Given the description of an element on the screen output the (x, y) to click on. 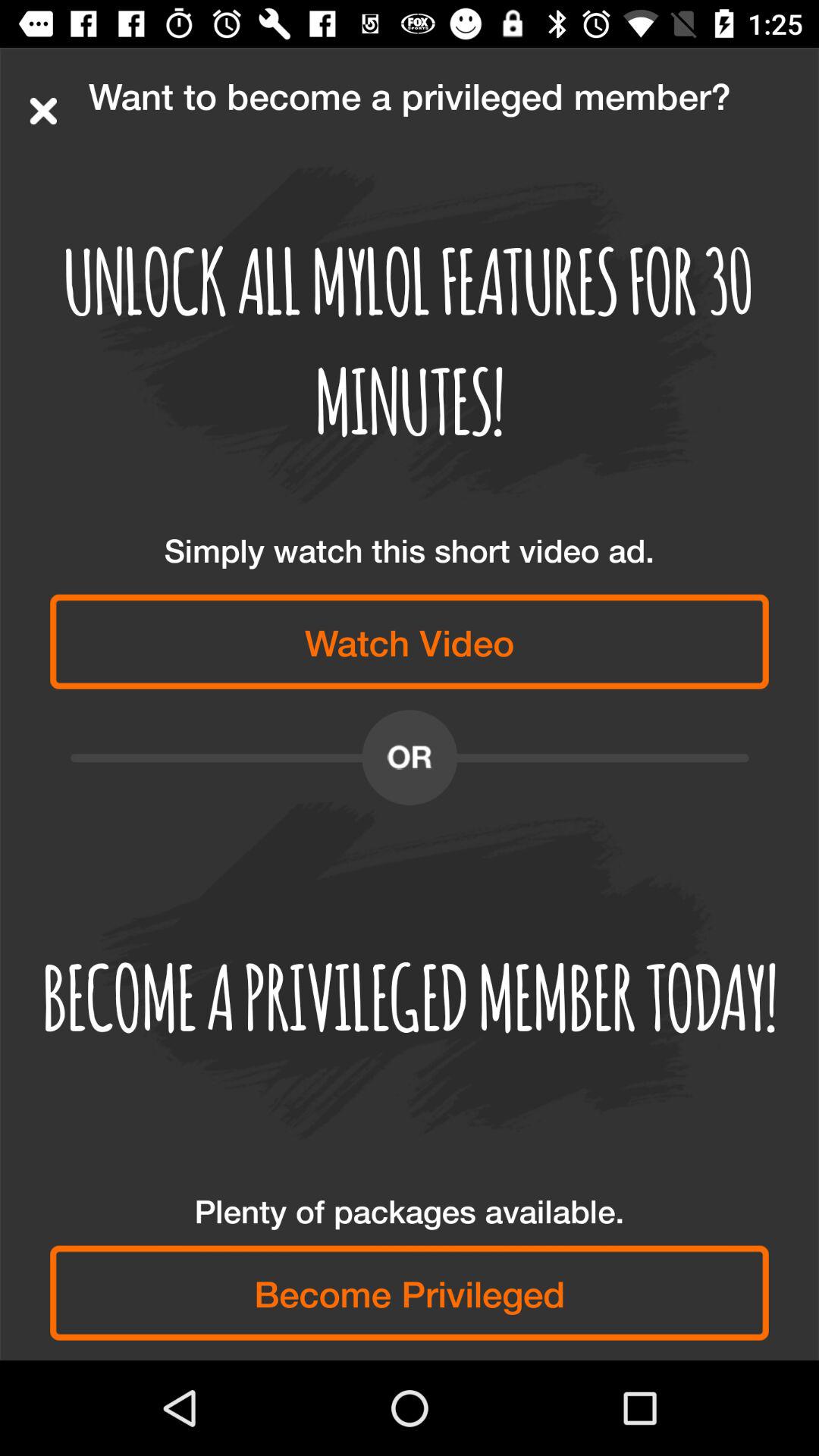
close page (43, 110)
